Given the description of an element on the screen output the (x, y) to click on. 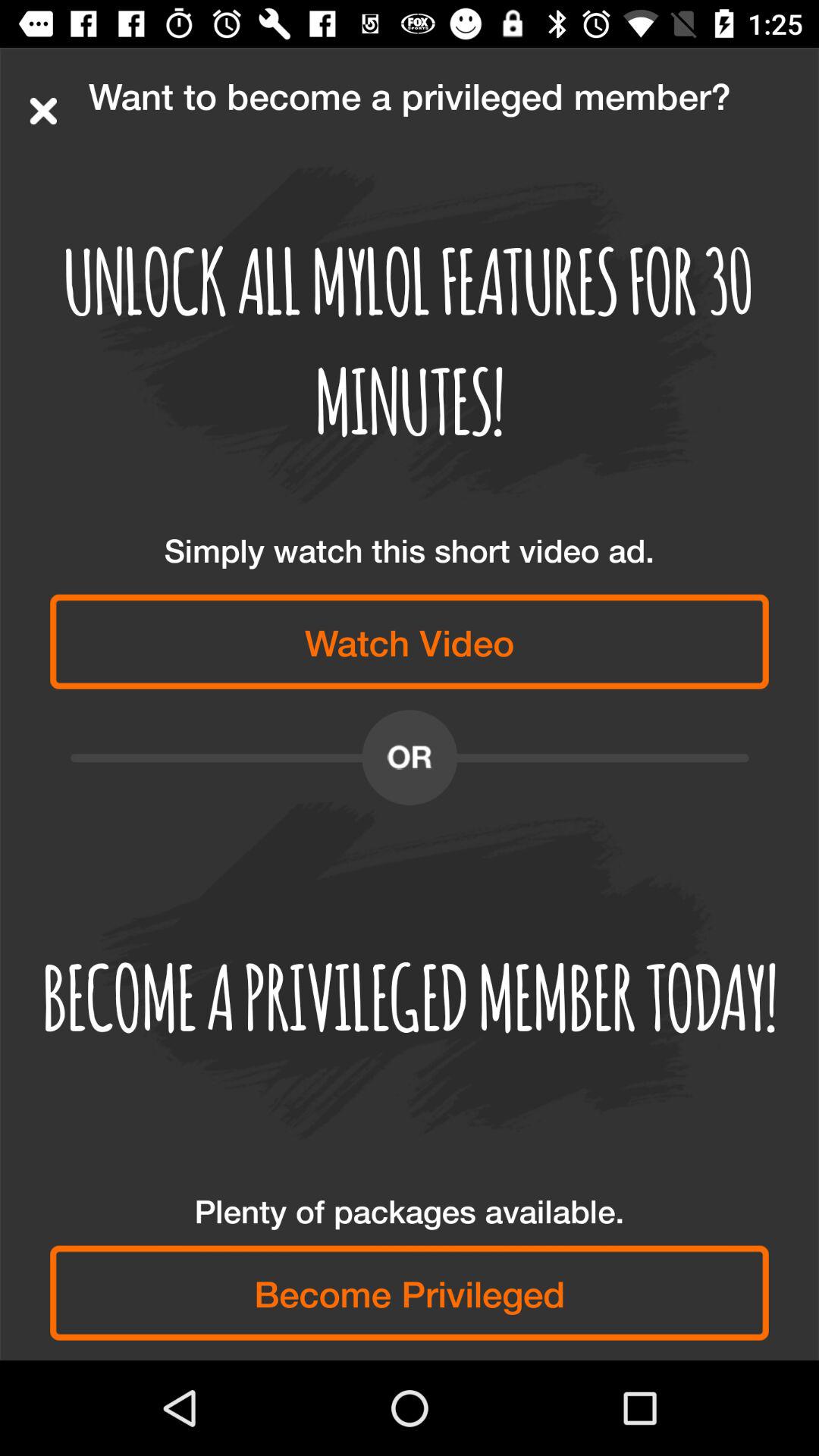
close page (43, 110)
